Given the description of an element on the screen output the (x, y) to click on. 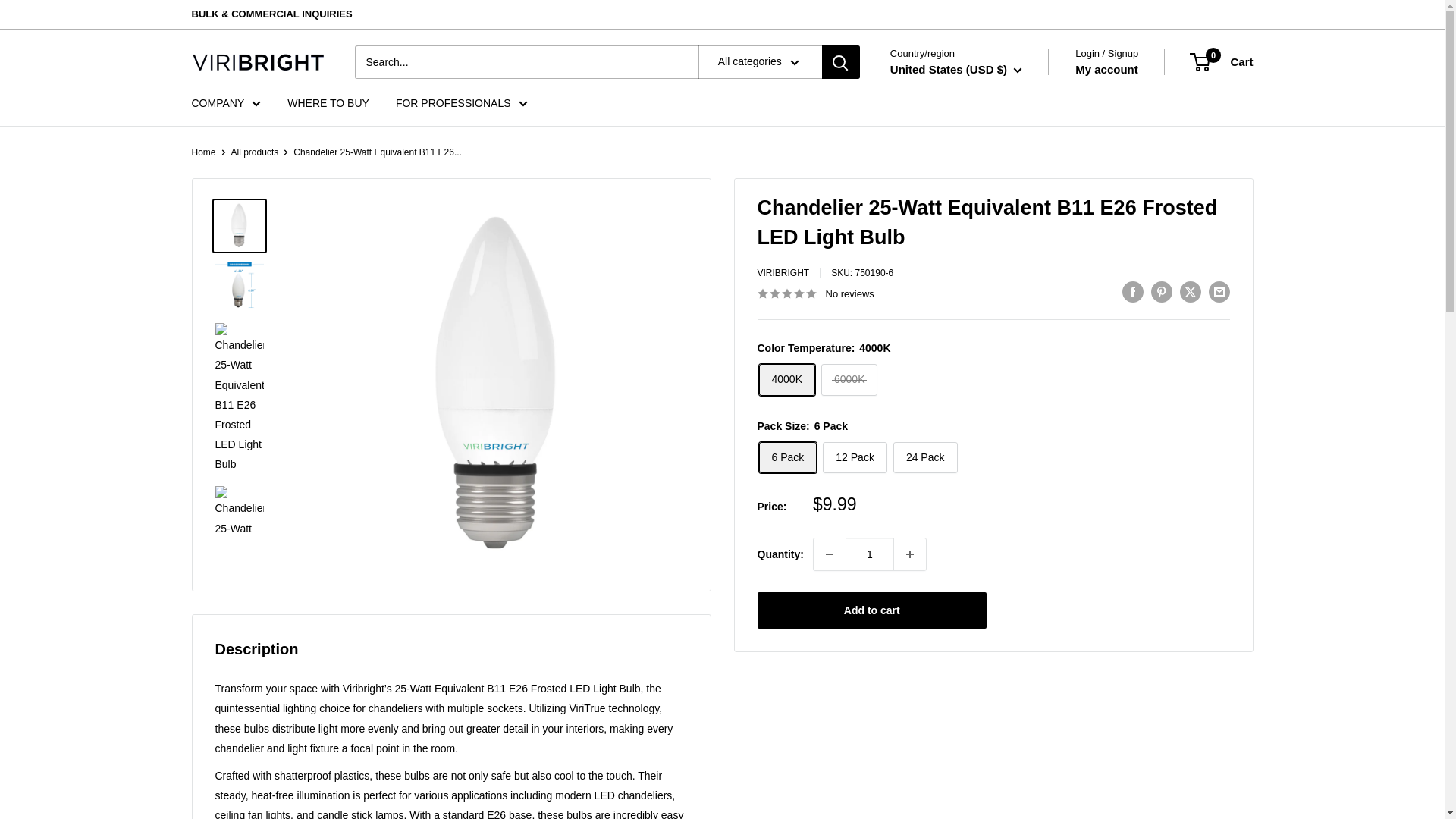
6 Pack (787, 457)
12 Pack (854, 457)
4000K (785, 378)
6000K (849, 378)
1 (869, 554)
Decrease quantity by 1 (829, 554)
Increase quantity by 1 (909, 554)
24 Pack (925, 457)
